Given the description of an element on the screen output the (x, y) to click on. 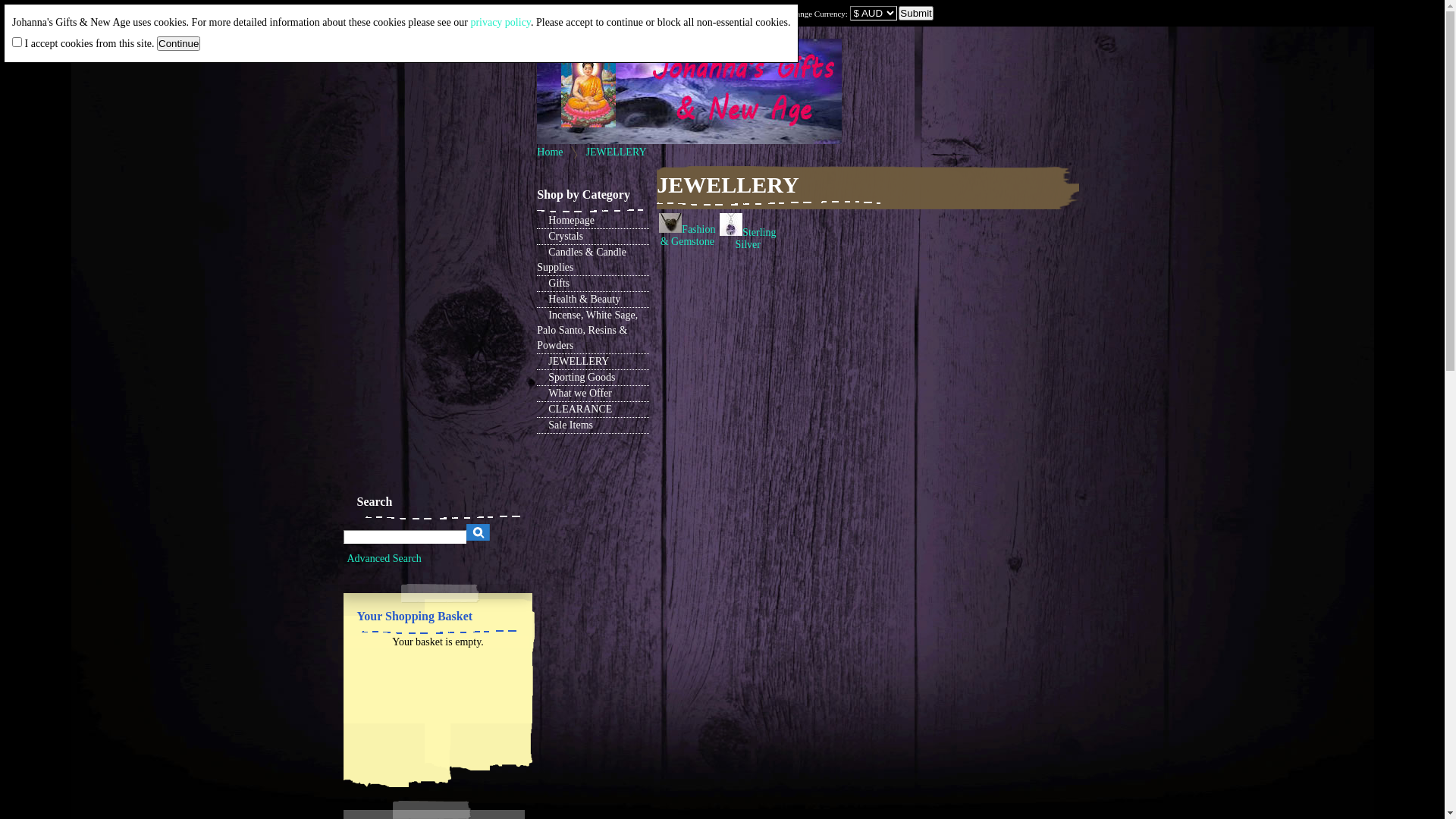
CLEARANCE Element type: text (592, 409)
JEWELLERY Element type: text (592, 362)
Log In Element type: text (354, 13)
Submit Element type: text (519, 40)
Fashion & Gemstone Element type: text (687, 235)
Health & Beauty Element type: text (592, 299)
Advanced Search Element type: text (384, 558)
JEWELLERY Element type: text (615, 151)
Sporting Goods Element type: text (592, 377)
Register Element type: text (394, 13)
Crystals Element type: text (592, 236)
Candles & Candle Supplies Element type: text (592, 260)
Homepage Element type: text (592, 221)
Search Element type: hover (477, 532)
Incense, White Sage, Palo Santo, Resins & Powders Element type: text (592, 330)
privacy policy Element type: text (500, 22)
Sterling Silver Element type: hover (730, 232)
Home Element type: text (549, 151)
Continue Element type: text (178, 43)
Submit Element type: text (915, 13)
Sterling Silver Element type: text (755, 238)
Fashion & Gemstone Element type: hover (669, 229)
What we Offer Element type: text (592, 393)
Sale Items Element type: text (592, 425)
Gifts Element type: text (592, 283)
Search our store Element type: hover (403, 536)
